Given the description of an element on the screen output the (x, y) to click on. 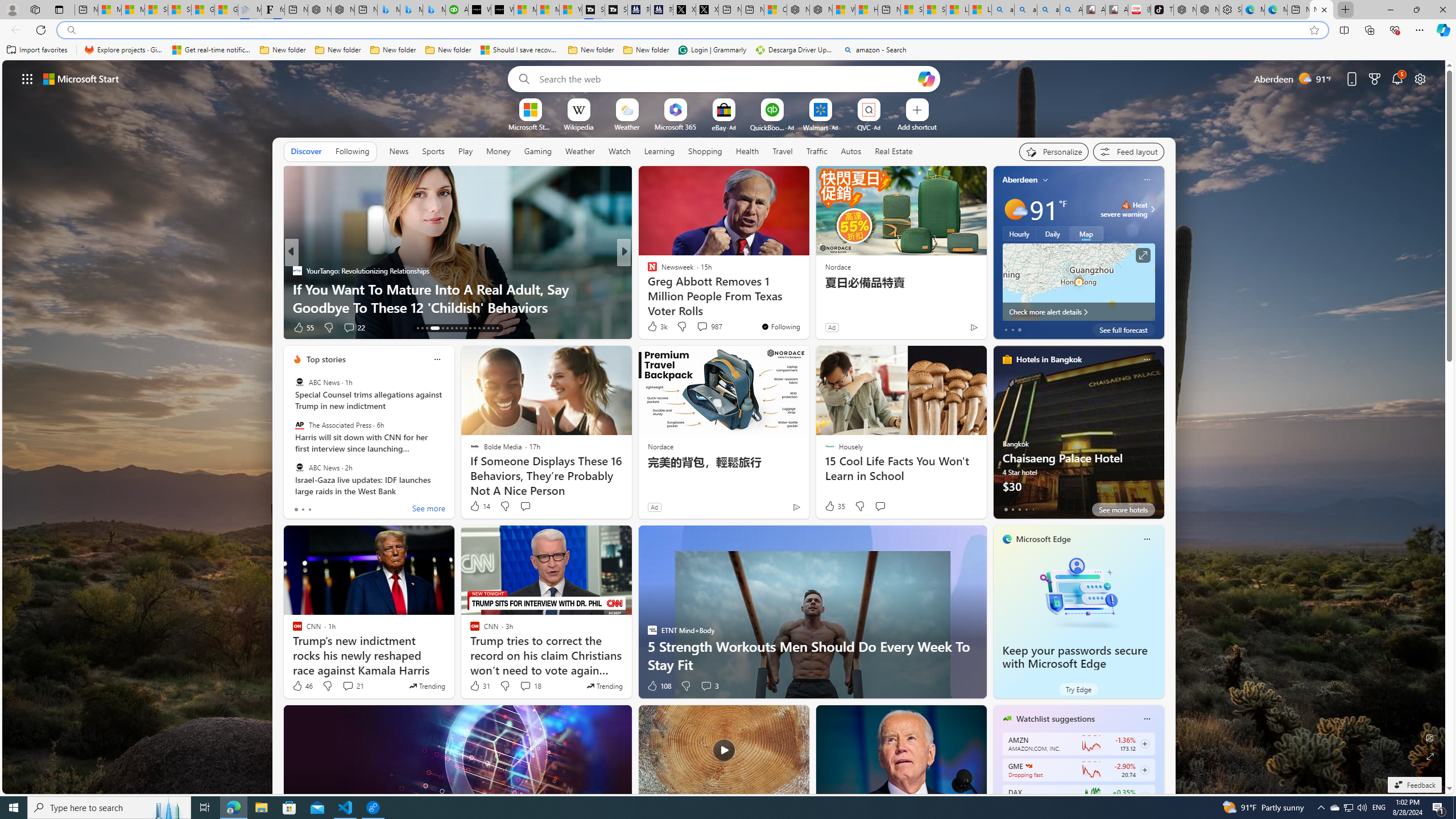
158 Like (304, 327)
View comments 1 Comment (702, 327)
View comments 21 Comment (347, 685)
